Given the description of an element on the screen output the (x, y) to click on. 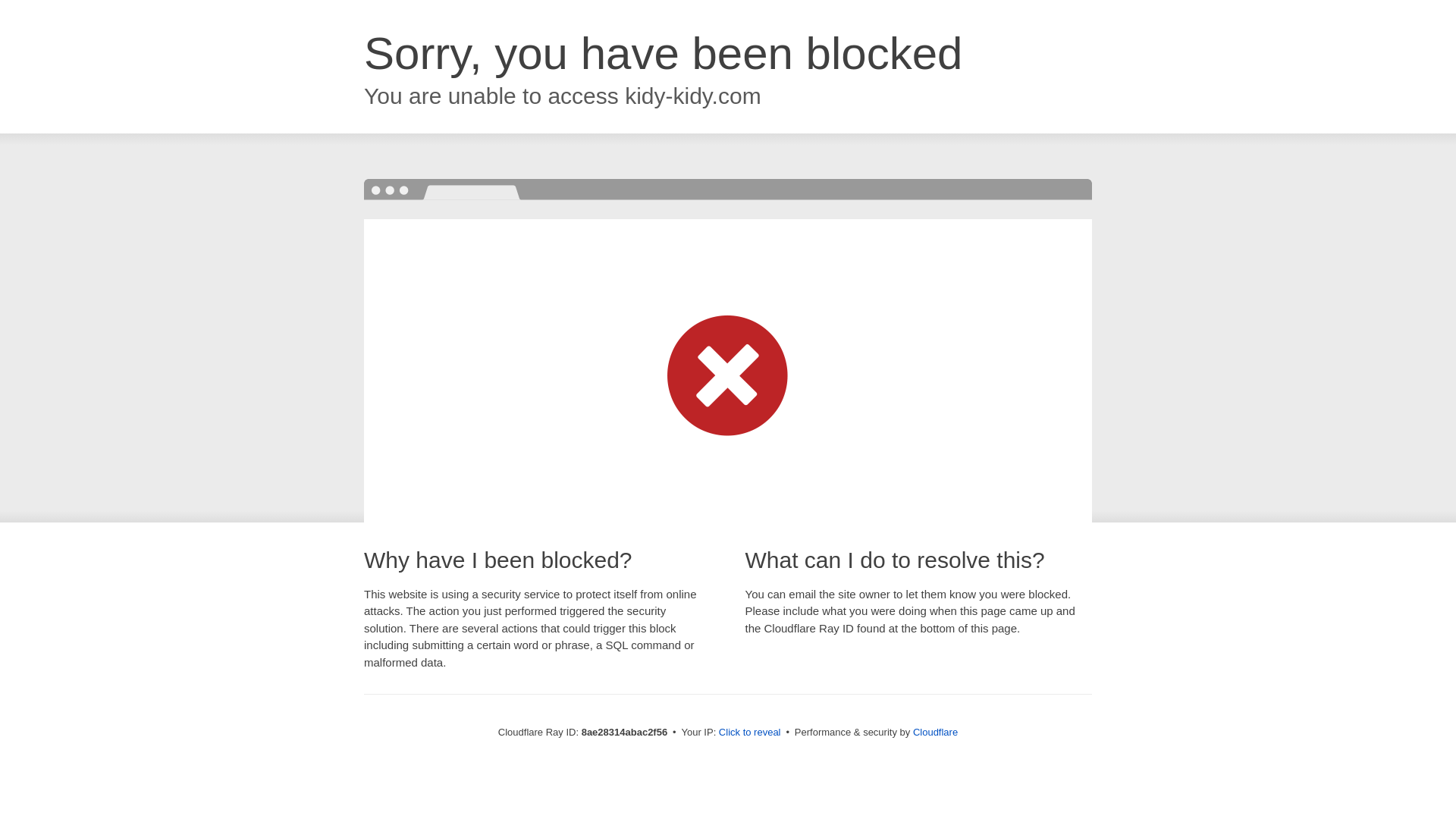
Cloudflare (935, 731)
Click to reveal (749, 732)
